Given the description of an element on the screen output the (x, y) to click on. 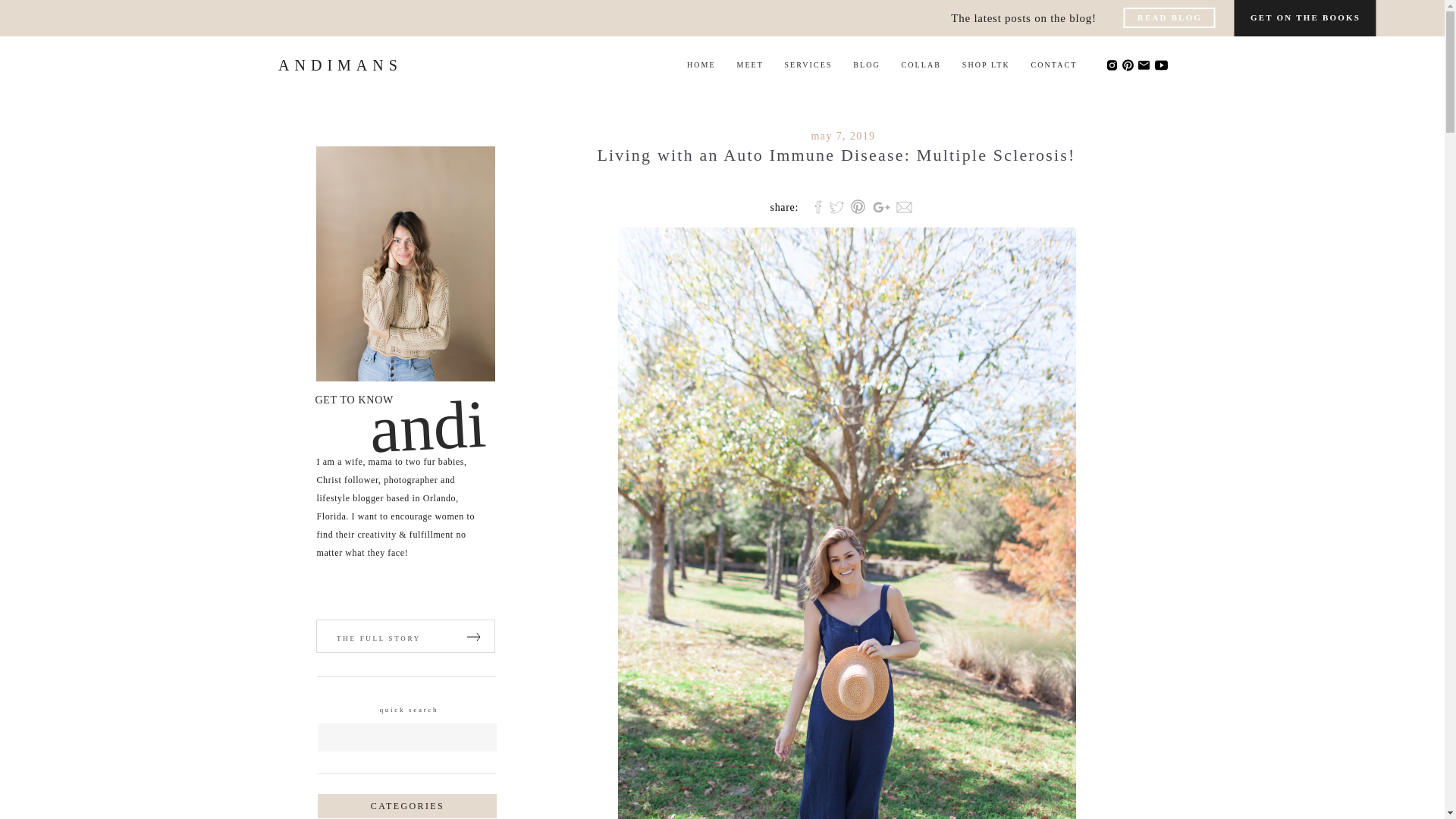
SERVICES (807, 64)
SHOP LTK (986, 64)
THE FULL STORY (378, 639)
GET ON THE BOOKS (1305, 20)
HOME (701, 64)
BLOG (866, 64)
READ BLOG (1169, 20)
MEET (749, 64)
COLLAB (921, 64)
CATEGORIES (407, 812)
